Given the description of an element on the screen output the (x, y) to click on. 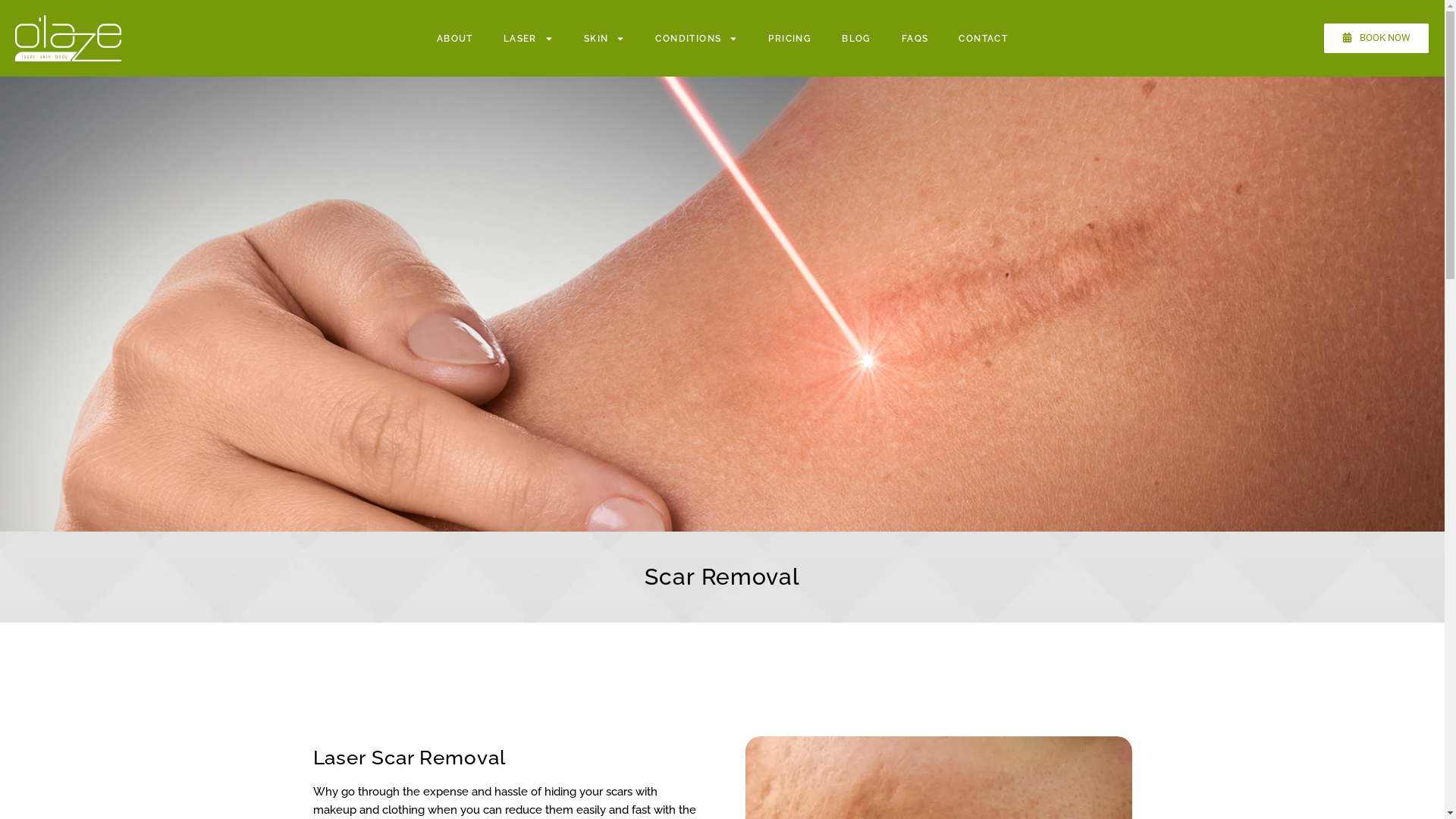
CONTACT Element type: text (982, 38)
ABOUT Element type: text (454, 38)
BOOK NOW Element type: text (1376, 37)
BLOG Element type: text (856, 38)
PRICING Element type: text (789, 38)
CONDITIONS Element type: text (696, 38)
LASER Element type: text (528, 38)
SKIN Element type: text (604, 38)
FAQS Element type: text (915, 38)
